Given the description of an element on the screen output the (x, y) to click on. 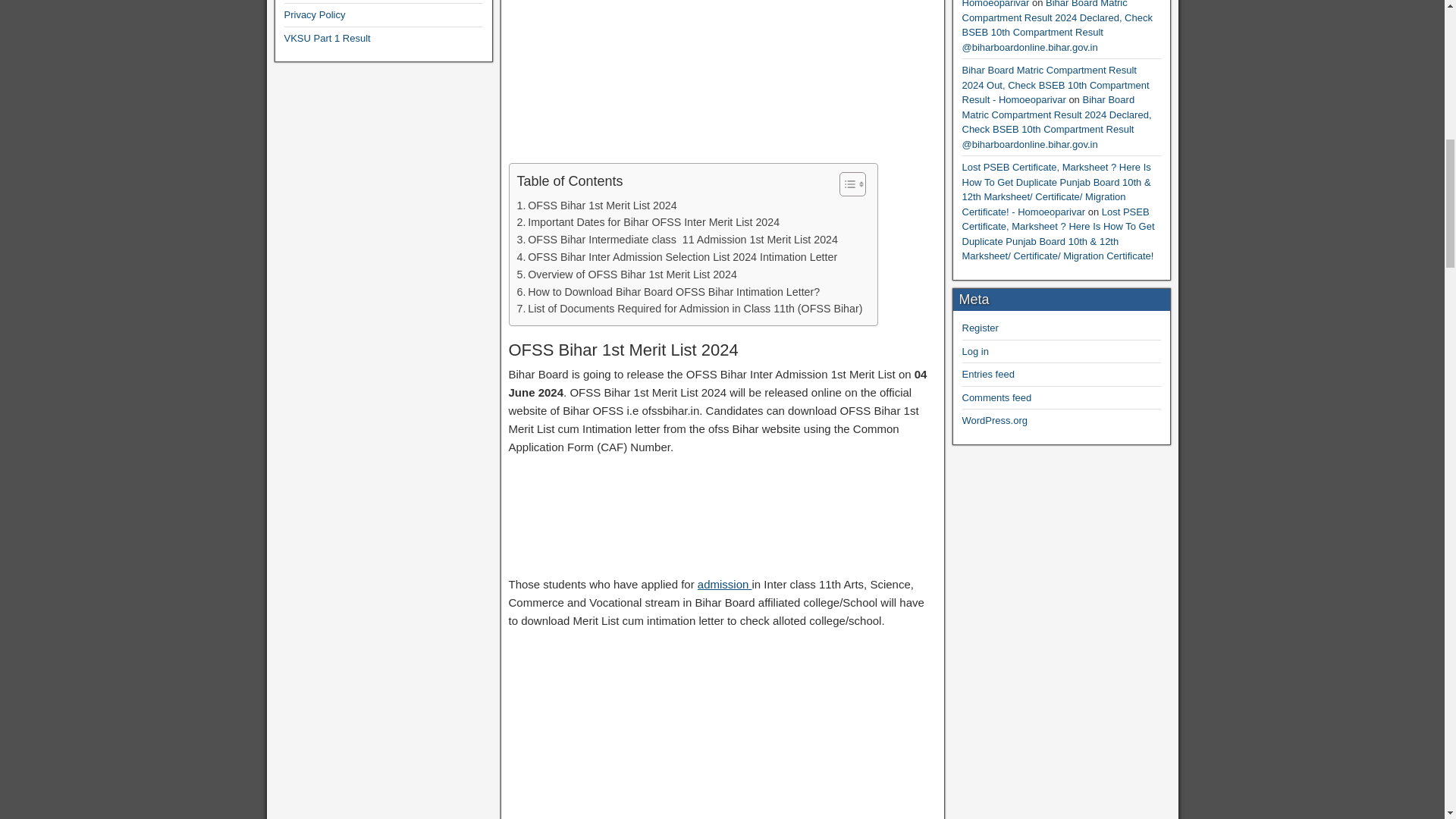
Overview of OFSS Bihar 1st Merit List 2024 (626, 274)
Advertisement (722, 519)
OFSS Bihar 1st Merit List 2024 (596, 205)
Important Dates for Bihar OFSS Inter Merit List 2024 (648, 221)
Advertisement (722, 729)
How to Download Bihar Board OFSS Bihar Intimation Letter? (668, 292)
Advertisement (722, 81)
